Given the description of an element on the screen output the (x, y) to click on. 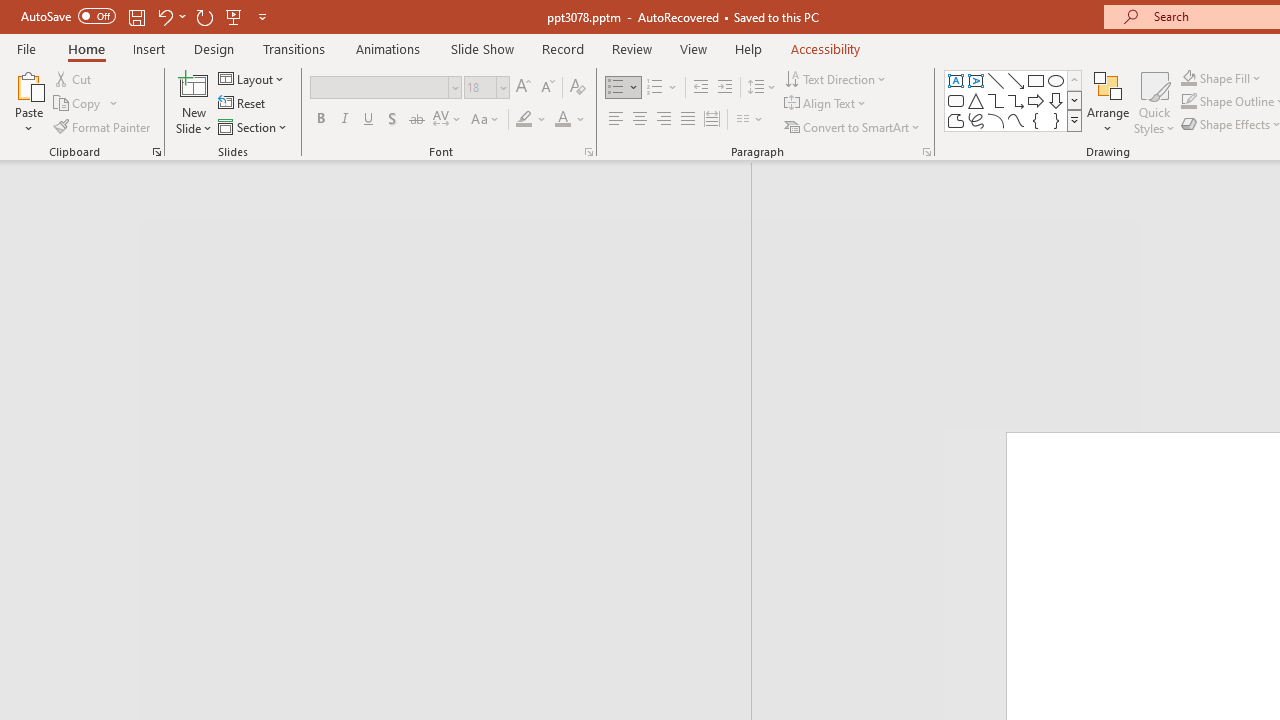
Increase Indent (725, 87)
Change Case (486, 119)
Vertical Text Box (975, 80)
Italic (344, 119)
Font Color Red (562, 119)
Rectangle: Rounded Corners (955, 100)
Line Arrow (1016, 80)
Align Left (616, 119)
